Given the description of an element on the screen output the (x, y) to click on. 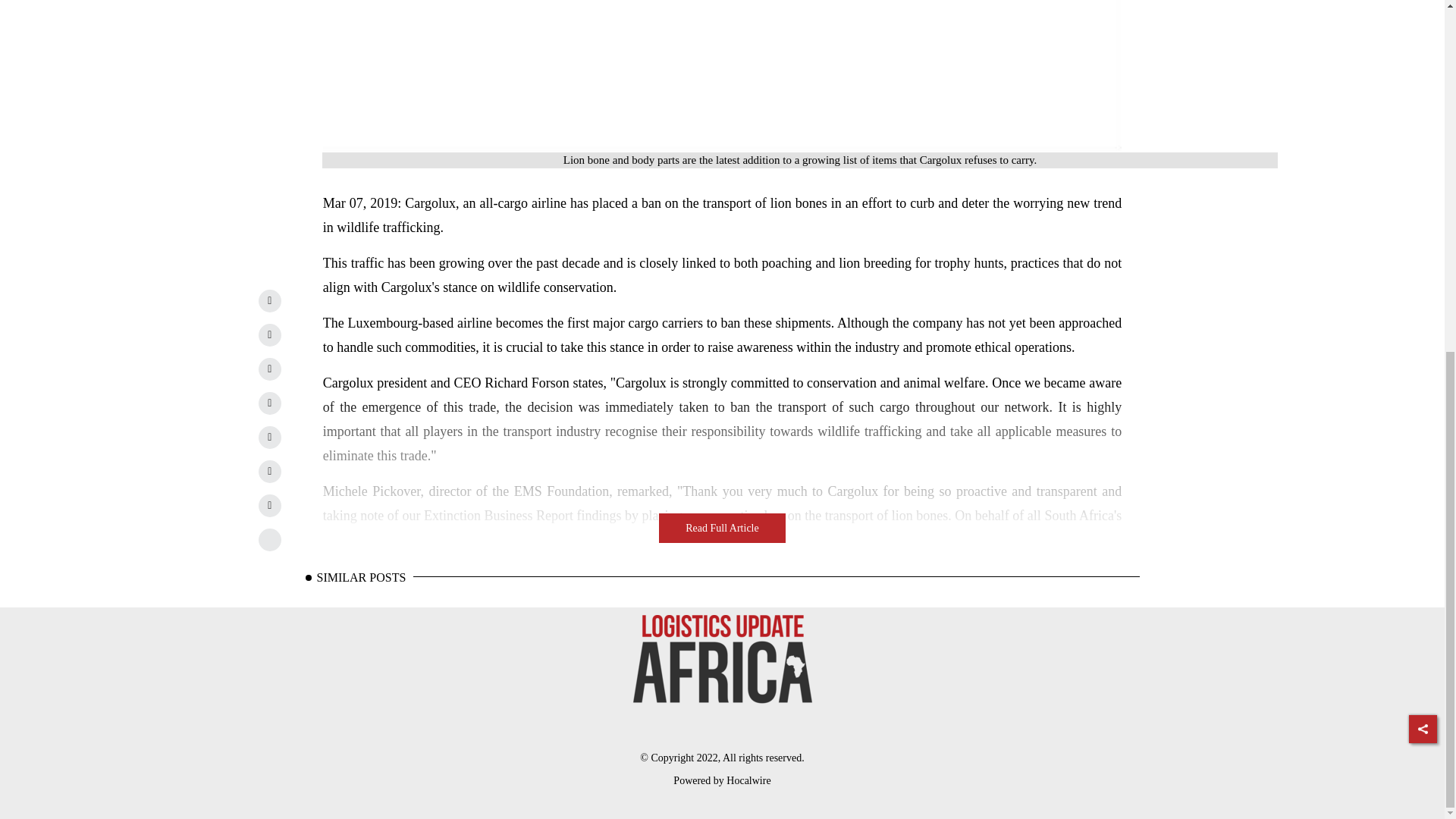
Logistics Update Africa (721, 660)
LinkedIn (270, 300)
facebook (270, 368)
Print (270, 505)
telegram (270, 436)
twitter (270, 334)
Share by Email (270, 471)
whatsapp (270, 403)
koo (270, 539)
